Given the description of an element on the screen output the (x, y) to click on. 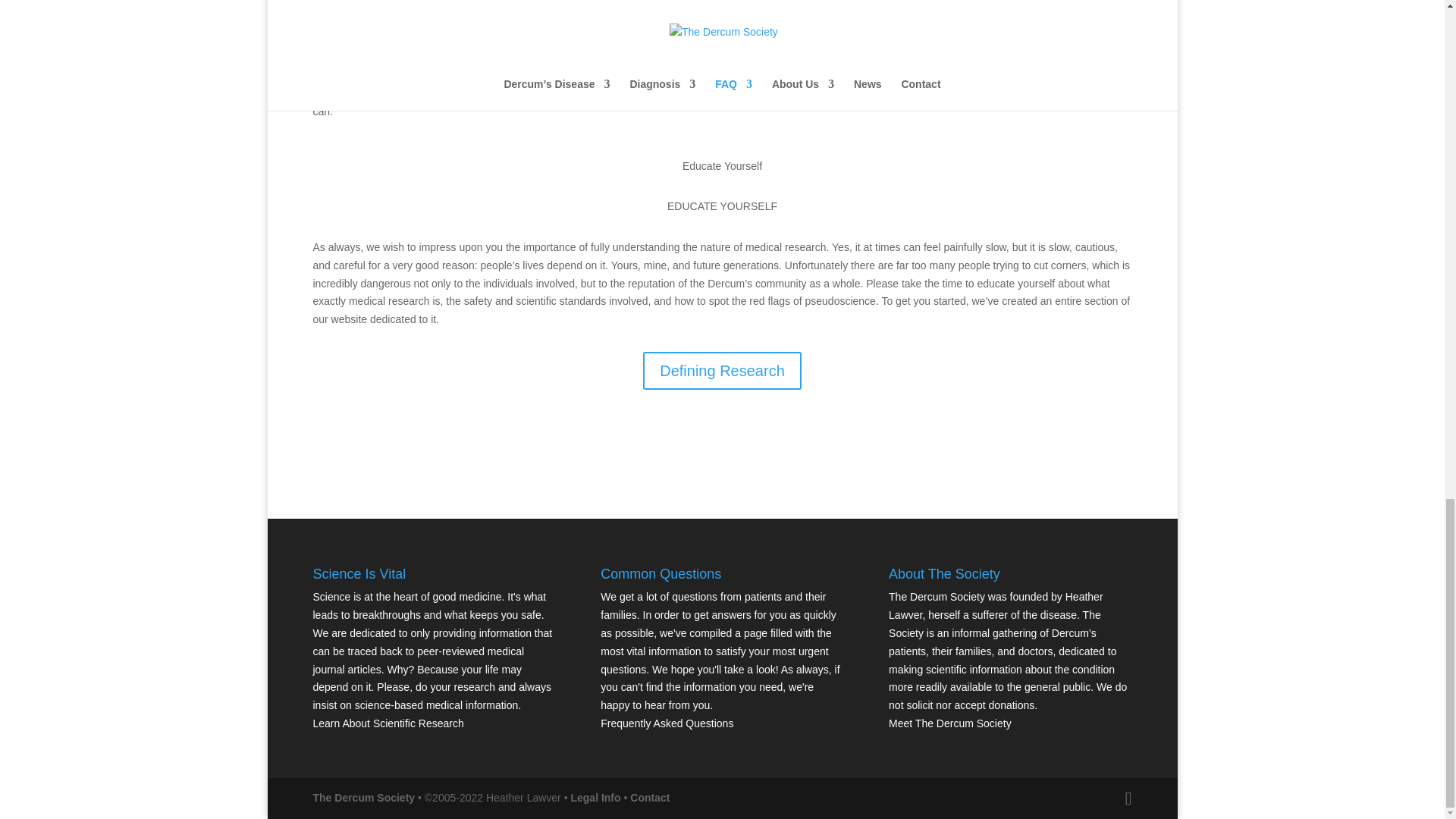
Lifestyle Advice (381, 444)
NIH Blood Bank (578, 19)
Learn About Scientific Research (388, 723)
Foundation for the National Institutes of Health (648, 28)
Meet The Dercum Society (949, 723)
Frequently Asked Questions (666, 723)
Donations (1080, 444)
Defining Research (722, 370)
